Given the description of an element on the screen output the (x, y) to click on. 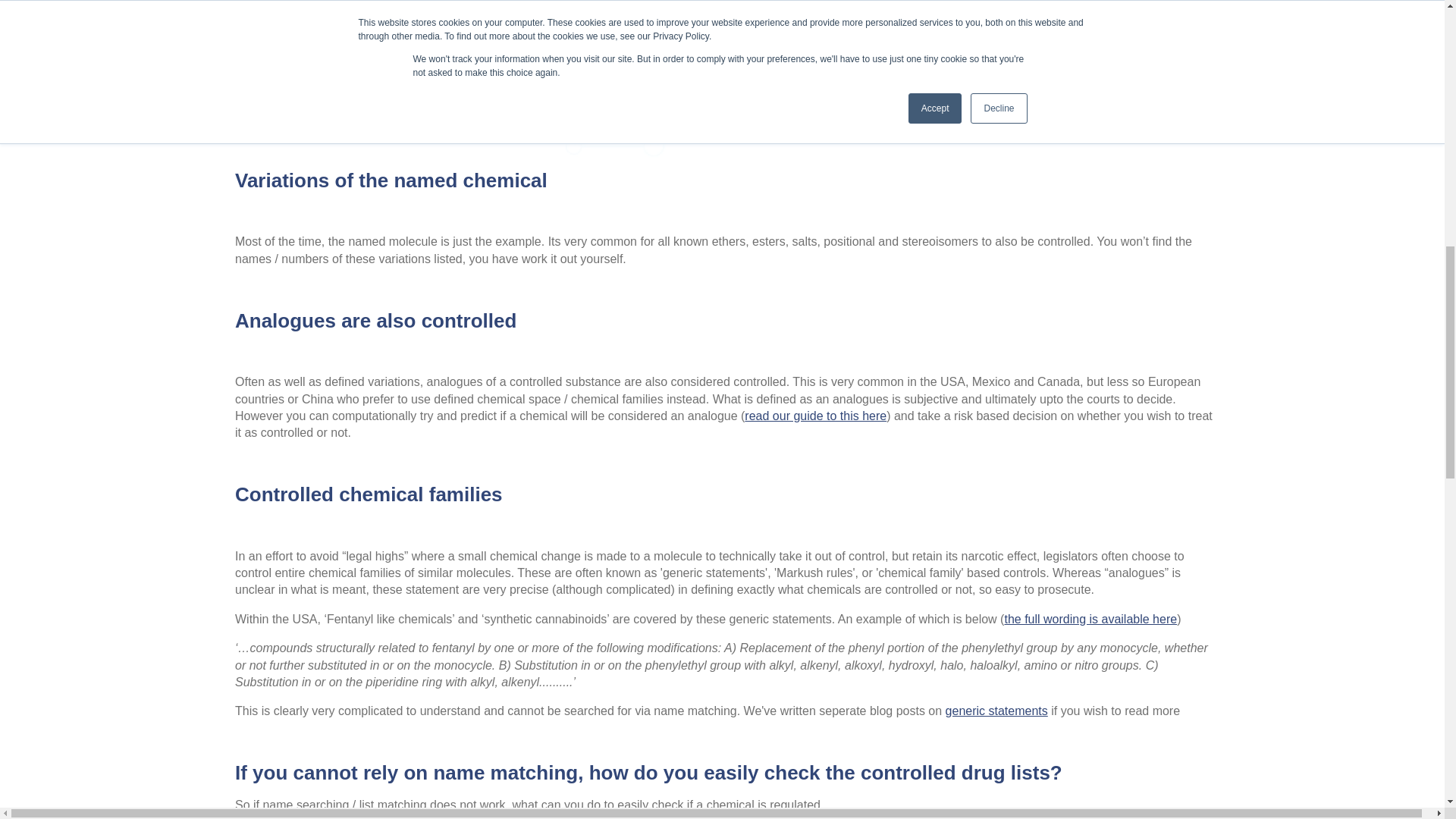
read our guide to this here (815, 415)
the full wording is available here (1090, 618)
generic statements (996, 710)
